Given the description of an element on the screen output the (x, y) to click on. 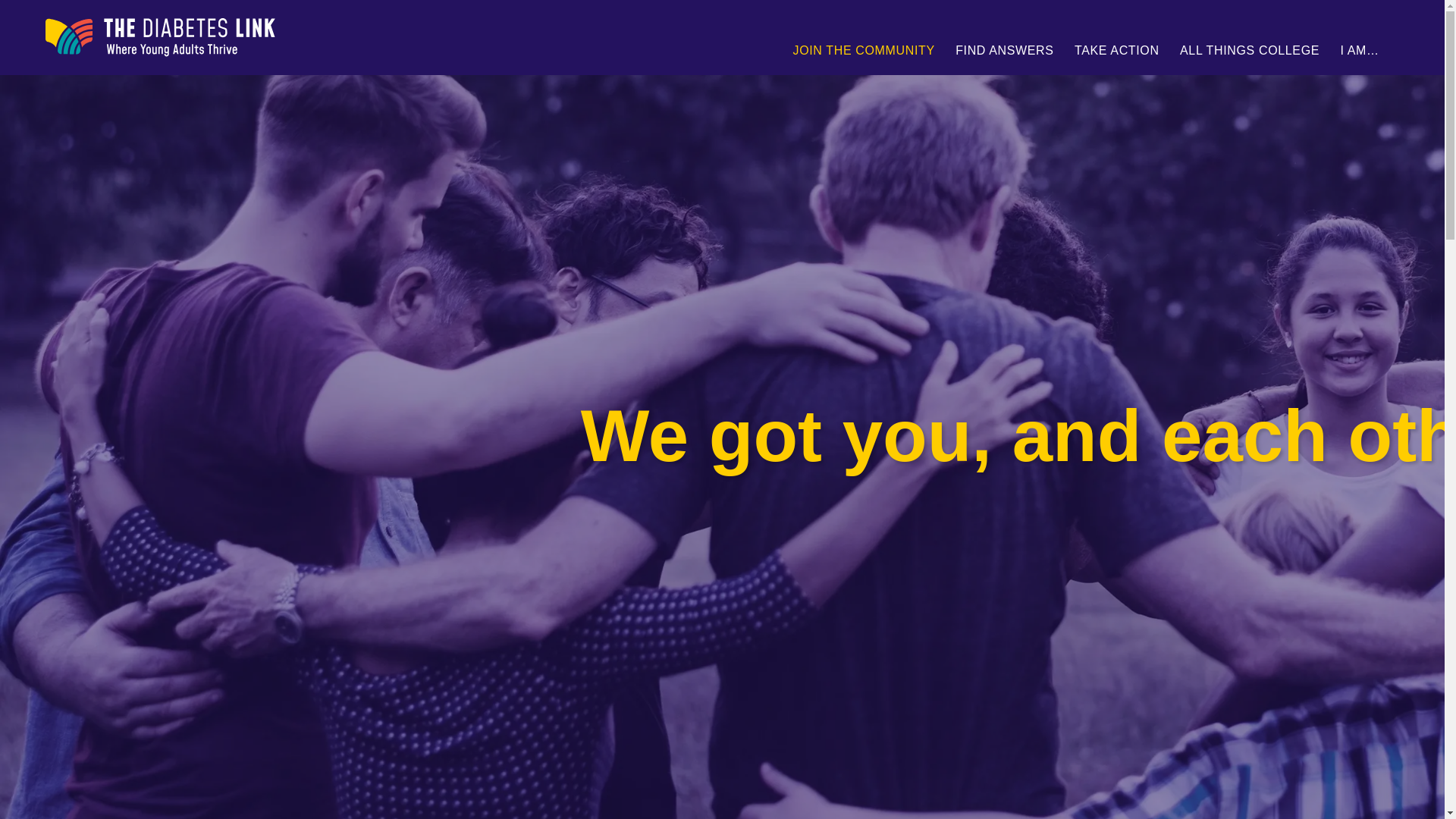
JOIN THE COMMUNITY (863, 50)
FIND ANSWERS (1004, 50)
TAKE ACTION (1116, 50)
ALL THINGS COLLEGE (1249, 50)
